Given the description of an element on the screen output the (x, y) to click on. 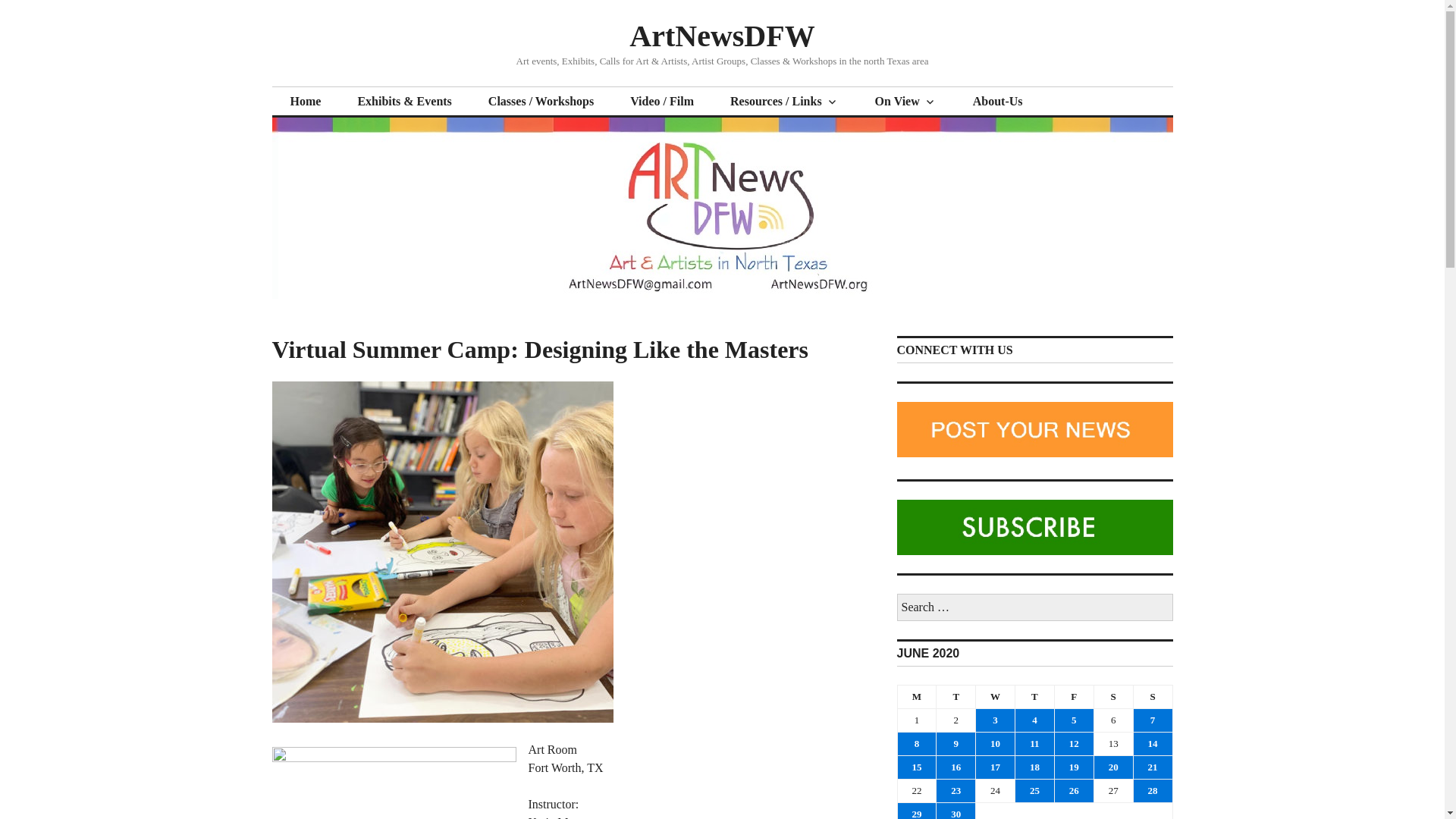
On View (906, 101)
Saturday (1112, 696)
Wednesday (994, 696)
Monday (916, 696)
Home (304, 101)
ArtNewsDFW (720, 35)
Friday (1073, 696)
Thursday (1034, 696)
About-Us (998, 101)
Tuesday (955, 696)
